Given the description of an element on the screen output the (x, y) to click on. 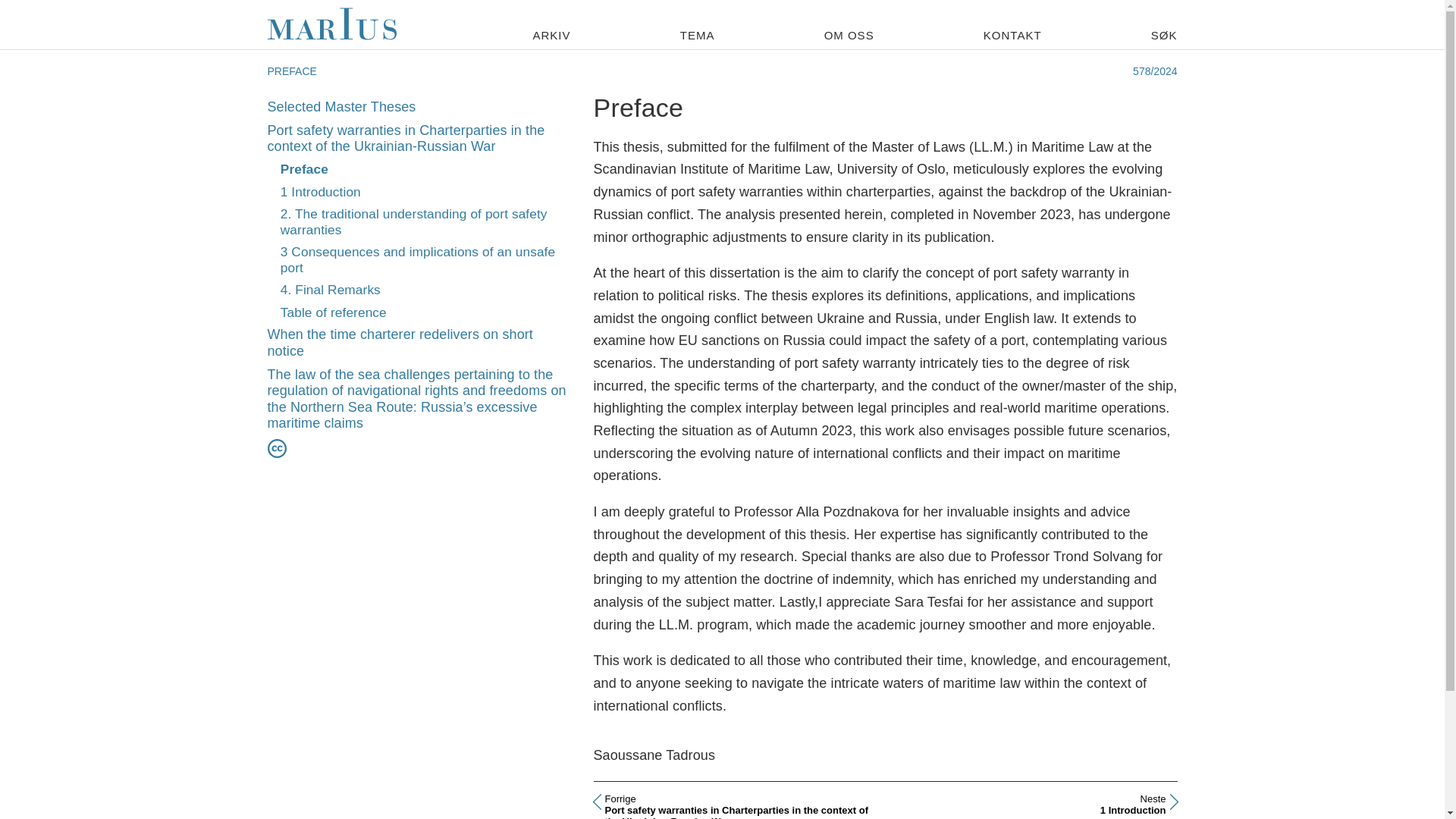
KONTAKT (1013, 35)
ARKIV (551, 35)
Preface (305, 168)
Publiseringspolitikk (275, 444)
Selected Master Theses (340, 106)
OM OSS (849, 35)
When the time charterer redelivers on short notice (399, 342)
1 Introduction (1031, 806)
2. The traditional understanding of port safety warranties (321, 191)
TEMA (414, 221)
3 Consequences and implications of an unsafe port (696, 35)
Publiseringspolitikk (417, 259)
